Given the description of an element on the screen output the (x, y) to click on. 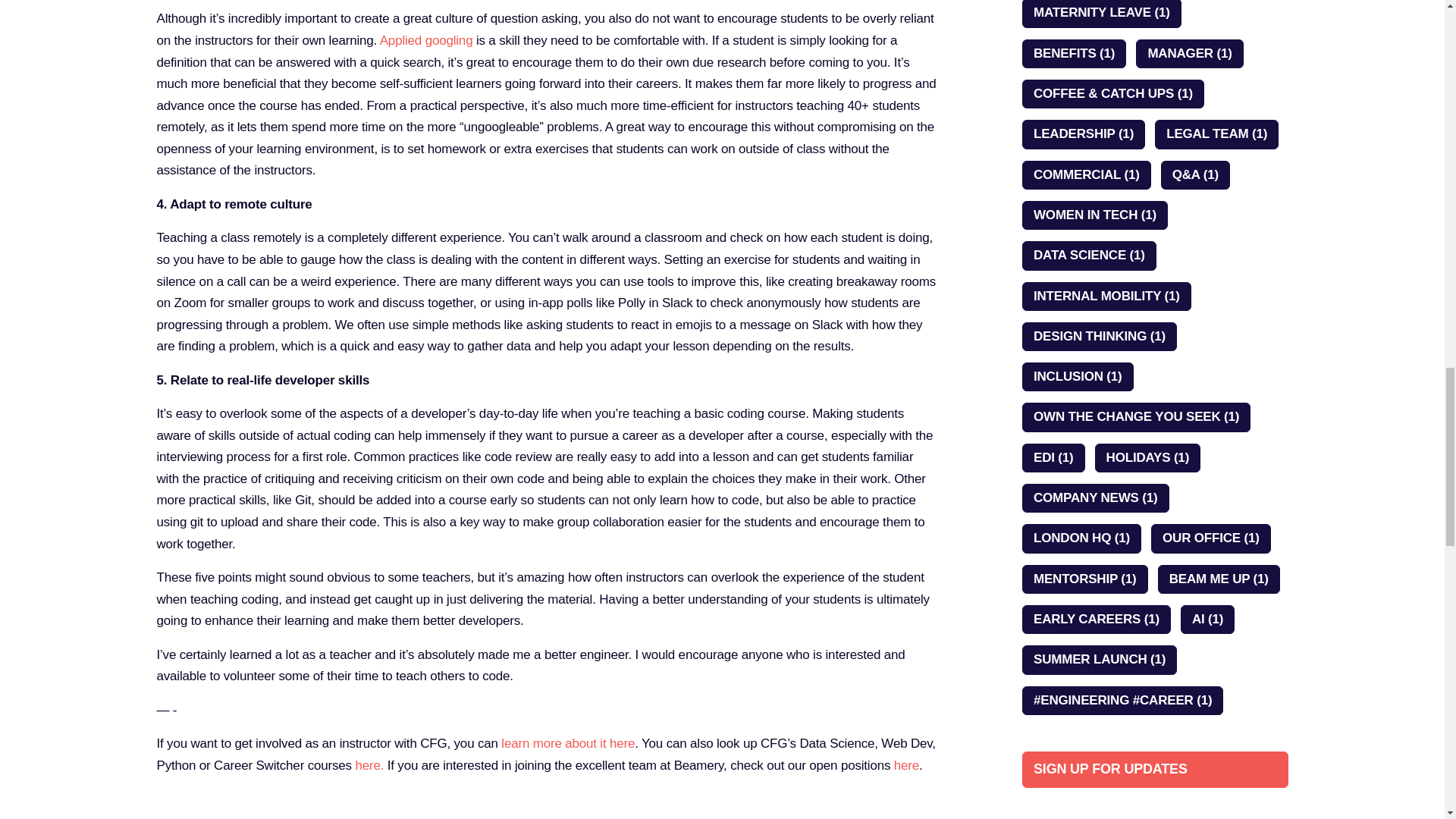
learn more about it here (567, 743)
Applied googling (426, 40)
here (905, 765)
 here. (368, 765)
